Given the description of an element on the screen output the (x, y) to click on. 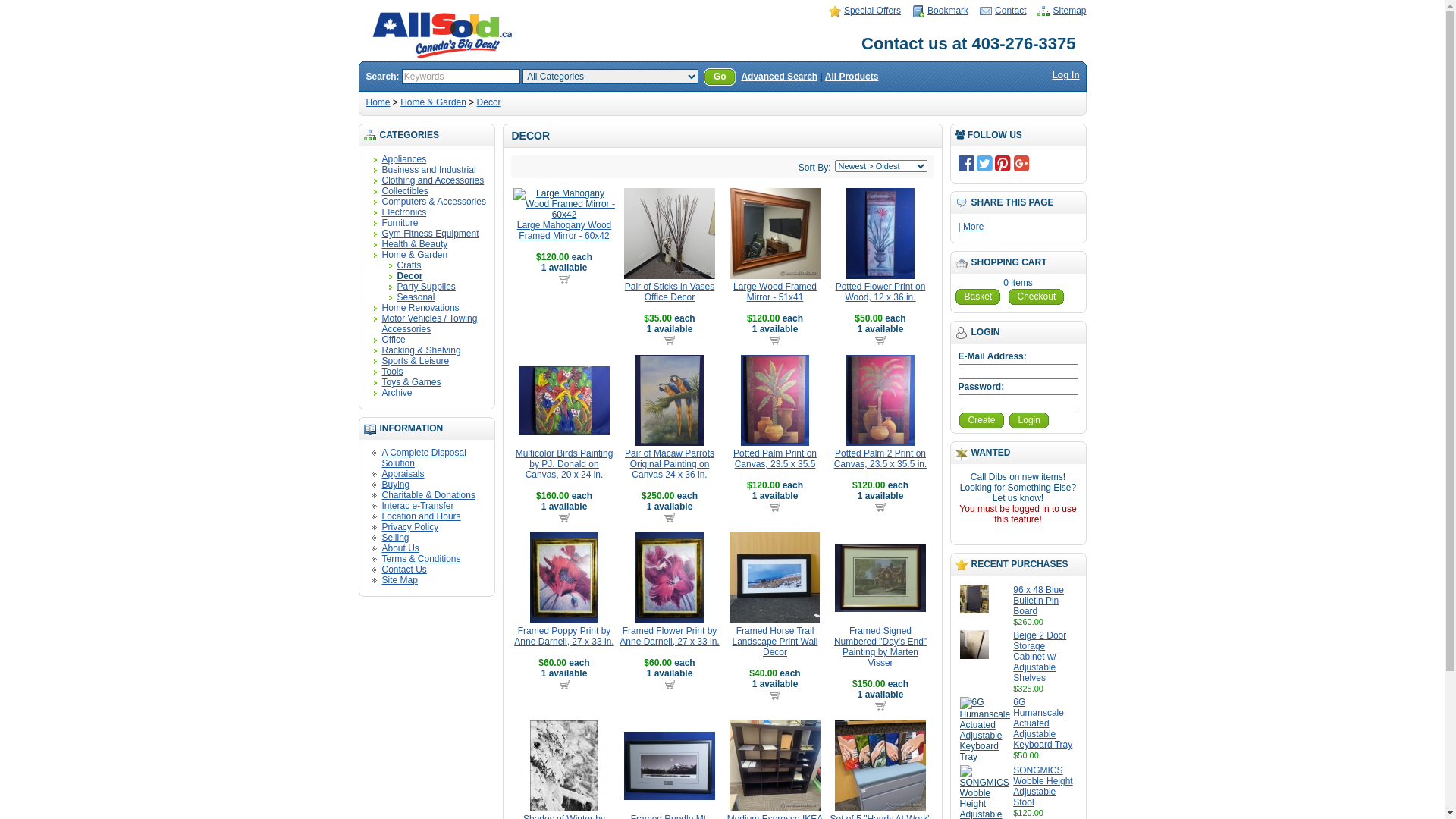
96 x 48 Blue Bulletin Pin Board Element type: text (1038, 600)
Computers & Accessories Element type: text (434, 201)
6G Humanscale Actuated Adjustable Keyboard Tray Element type: text (1042, 722)
Follow us on Twitter Element type: hover (984, 162)
Toys & Games Element type: text (411, 381)
  Element type: text (774, 339)
Checkout Element type: text (1036, 296)
Seasonal Element type: text (416, 296)
Pair of Sticks in Vases Office Decor Element type: hover (669, 233)
Potted Palm 2 Print on Canvas, 23.5 x 35.5 in. Element type: text (880, 458)
  Element type: text (879, 339)
  Element type: text (774, 694)
Set of 5 "Hands At Work" Paintings on Canvas Element type: hover (879, 765)
Login Element type: text (1028, 420)
Log In Element type: text (1065, 74)
Tools Element type: text (392, 371)
SONGMICS Wobble Height Adjustable Stool Element type: text (1043, 786)
Framed Flower Print by Anne Darnell, 27 x 33 in. Element type: text (668, 635)
Add to Cart Element type: hover (774, 506)
Add to Cart Element type: hover (774, 339)
Home Element type: text (377, 102)
Location and Hours Element type: text (421, 516)
Home & Garden Element type: text (415, 254)
Add to Cart Element type: hover (879, 506)
  Element type: text (669, 517)
Privacy Policy Element type: text (410, 526)
Interac e-Transfer Element type: text (418, 505)
A Complete Disposal Solution Element type: text (424, 457)
Large Mahogany Wood Framed Mirror - 60x42 Element type: hover (563, 203)
Crafts Element type: text (409, 265)
Basket Element type: text (977, 296)
  Element type: text (879, 705)
Appliances Element type: text (404, 158)
Party Supplies Element type: text (426, 286)
Go Element type: text (719, 76)
Potted Flower Print on Wood, 12 x 36 in. Element type: hover (879, 233)
About Us Element type: text (400, 547)
Motor Vehicles / Towing Accessories Element type: text (429, 323)
  Element type: text (669, 339)
Sitemap Element type: text (1061, 10)
Potted Palm Print on Canvas, 23.5 x 35.5 Element type: text (774, 458)
Potted Palm Print on Canvas, 23.5 x 35.5 Element type: hover (774, 399)
  Element type: text (774, 506)
Decor Element type: text (488, 102)
Home & Garden Element type: text (433, 102)
  Element type: text (563, 278)
Add to Cart Element type: hover (563, 517)
Framed Horse Trail Landscape Print Wall Decor Element type: hover (774, 577)
Contact Element type: text (1002, 10)
Add to Cart Element type: hover (563, 278)
Terms & Conditions Element type: text (421, 558)
Add to Cart Element type: hover (879, 339)
Racking & Shelving Element type: text (421, 350)
Home Renovations Element type: text (420, 307)
Add to Cart Element type: hover (879, 705)
Create Element type: text (981, 420)
  Element type: text (563, 517)
  Element type: text (563, 683)
Framed Signed Numbered "Day's End" Painting by Marten Visser Element type: text (880, 646)
Business and Industrial Element type: text (429, 169)
Contact Us Element type: text (404, 569)
Archive Element type: text (397, 392)
Appraisals Element type: text (403, 473)
More Element type: text (973, 226)
Decor Element type: text (410, 275)
Follow us on Google+ Element type: hover (1021, 162)
Special Offers Element type: text (864, 10)
Collectibles Element type: text (405, 190)
Framed Poppy Print by Anne Darnell, 27 x 33 in. Element type: text (563, 635)
Potted Palm 2 Print on Canvas, 23.5 x 35.5 in. Element type: hover (879, 399)
Allsold.ca logo Element type: hover (441, 35)
Electronics Element type: text (404, 212)
Framed Horse Trail Landscape Print Wall Decor Element type: text (775, 641)
Follow us on Facebook Element type: hover (966, 162)
Site Map Element type: text (399, 579)
Sports & Leisure Element type: text (415, 360)
Bookmark Element type: text (940, 10)
Framed Rundle Mt. Photo Print w Plaque, 29.5 x 18.5 in. Element type: hover (669, 765)
Pair of Sticks in Vases Office Decor Element type: text (669, 291)
Large Mahogany Wood Framed Mirror - 60x42 Element type: text (564, 230)
Selling Element type: text (395, 537)
Beige 2 Door Storage Cabinet w/ Adjustable Shelves Element type: text (1039, 656)
  Element type: text (669, 683)
Potted Flower Print on Wood, 12 x 36 in. Element type: text (880, 291)
Charitable & Donations Element type: text (428, 494)
Keywords Element type: text (460, 76)
Add to Cart Element type: hover (669, 683)
Health & Beauty Element type: text (415, 243)
Add to Cart Element type: hover (669, 339)
Advanced Search Element type: text (778, 76)
Buying Element type: text (396, 484)
Furniture Element type: text (400, 222)
  Element type: text (879, 506)
All Products Element type: text (851, 76)
FOllow us on Pinterest Element type: hover (1002, 162)
Gym Fitness Equipment Element type: text (430, 233)
Large Wood Framed Mirror - 51x41 Element type: hover (774, 233)
Add to Cart Element type: hover (563, 683)
Framed Flower Print by Anne Darnell, 27 x 33 in. Element type: hover (669, 577)
Large Wood Framed Mirror - 51x41 Element type: text (774, 291)
Office Element type: text (393, 339)
Add to Cart Element type: hover (669, 517)
Medium Espresso IKEA Storage 4x4 Cube Bookcase Element type: hover (774, 765)
Add to Cart Element type: hover (774, 694)
Framed Poppy Print by Anne Darnell, 27 x 33 in. Element type: hover (563, 577)
Clothing and Accessories Element type: text (433, 180)
